Given the description of an element on the screen output the (x, y) to click on. 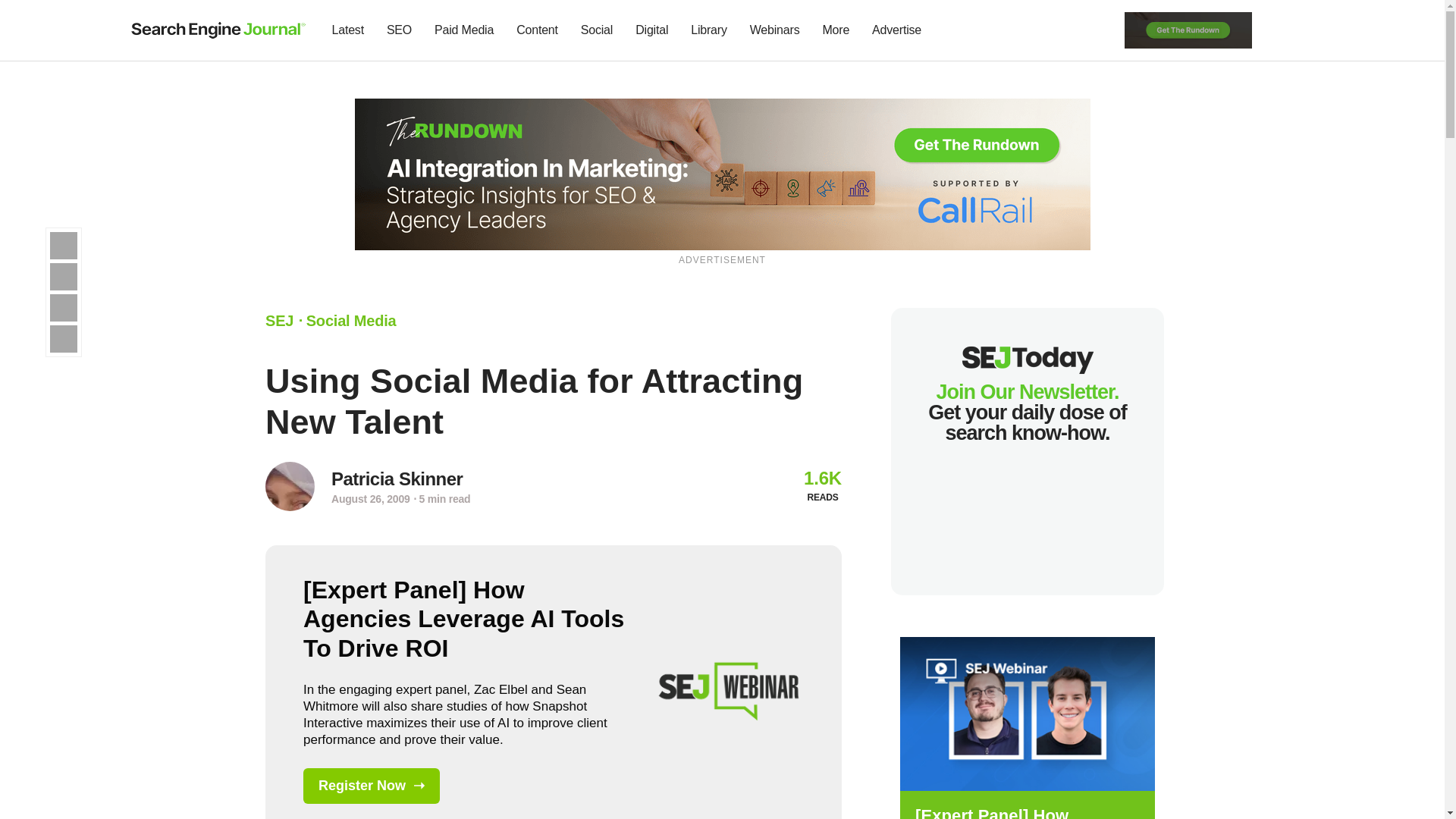
Get The Rundown (722, 172)
Get The Rundown (1187, 28)
Go to Author Page (289, 486)
Latest (347, 30)
Go to Author Page (397, 478)
Register Now (1026, 713)
Paid Media (464, 30)
Subscribe to our Newsletter (1277, 30)
